Given the description of an element on the screen output the (x, y) to click on. 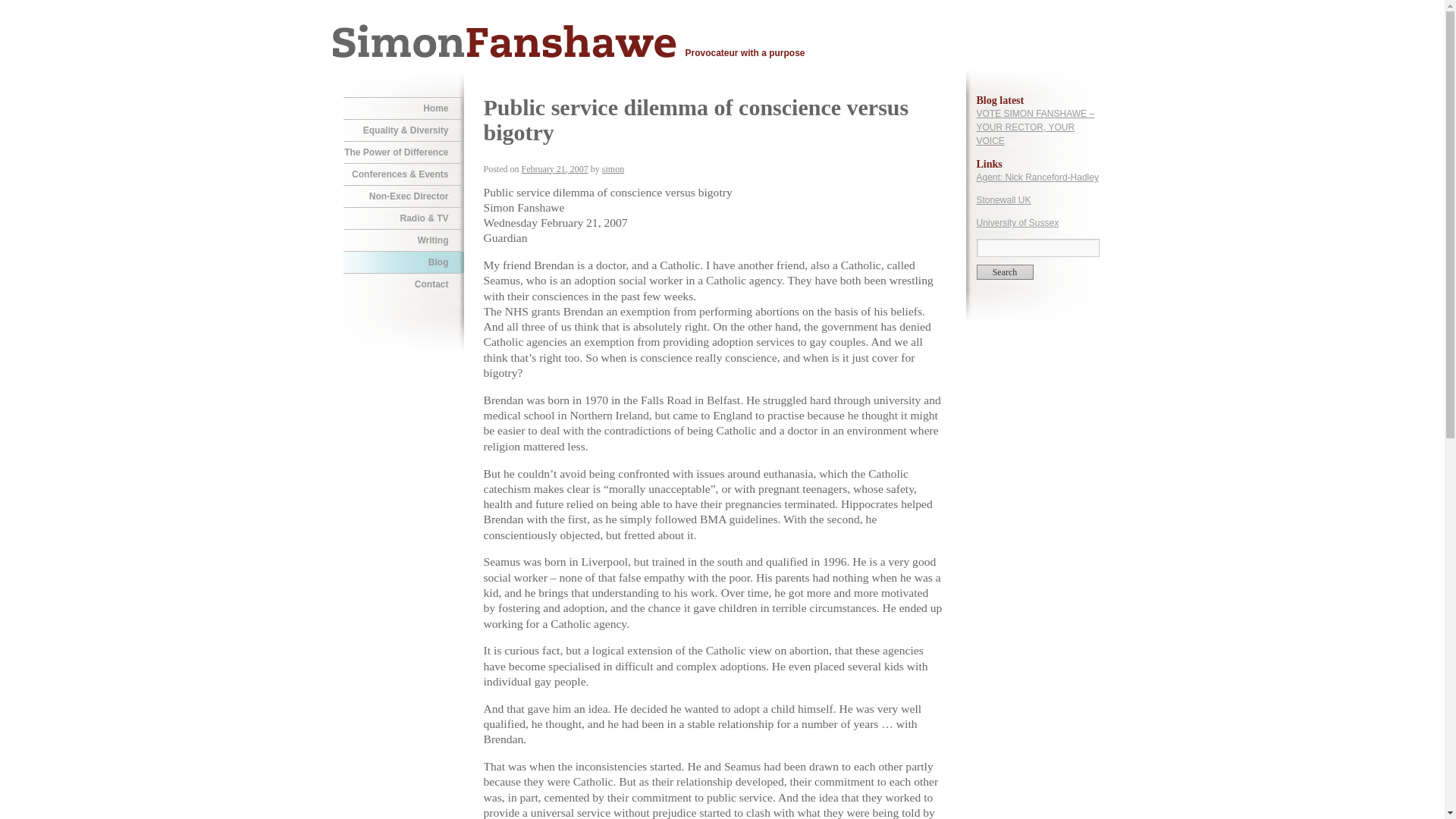
simon (613, 168)
Search (1004, 272)
University of Sussex (1017, 222)
Non-Exec Director (402, 196)
February 21, 2007 (554, 168)
Agent (1037, 176)
Stonewall UK (1003, 199)
Writing (402, 240)
Contact (402, 283)
Blog (402, 261)
View all posts by simon (613, 168)
2:12 pm (554, 168)
Home (402, 107)
Agent: Nick Ranceford-Hadley (1037, 176)
Search (1004, 272)
